Given the description of an element on the screen output the (x, y) to click on. 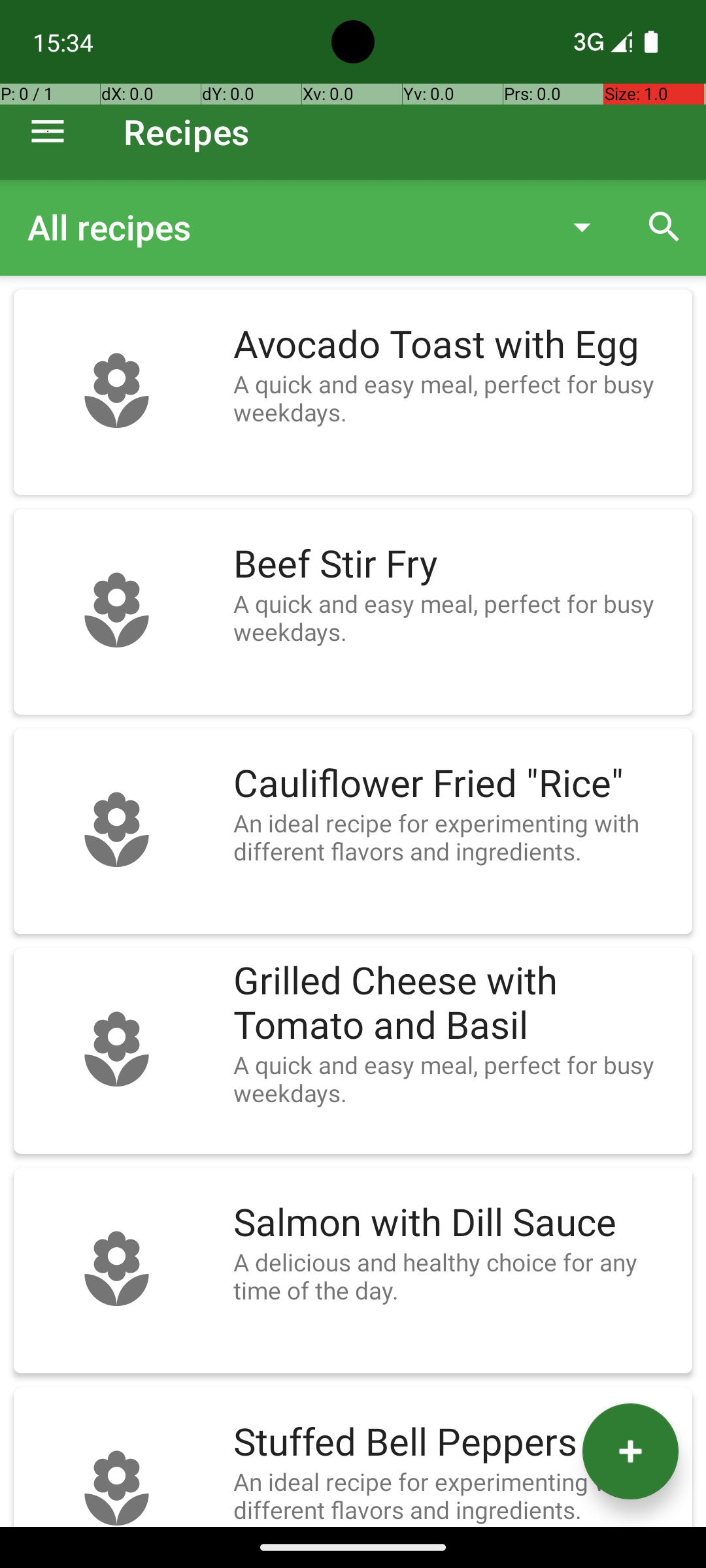
Cauliflower Fried "Rice" Element type: android.widget.TextView (455, 783)
Grilled Cheese with Tomato and Basil Element type: android.widget.TextView (455, 1003)
Salmon with Dill Sauce Element type: android.widget.TextView (455, 1222)
Stuffed Bell Peppers Element type: android.widget.TextView (455, 1442)
